Given the description of an element on the screen output the (x, y) to click on. 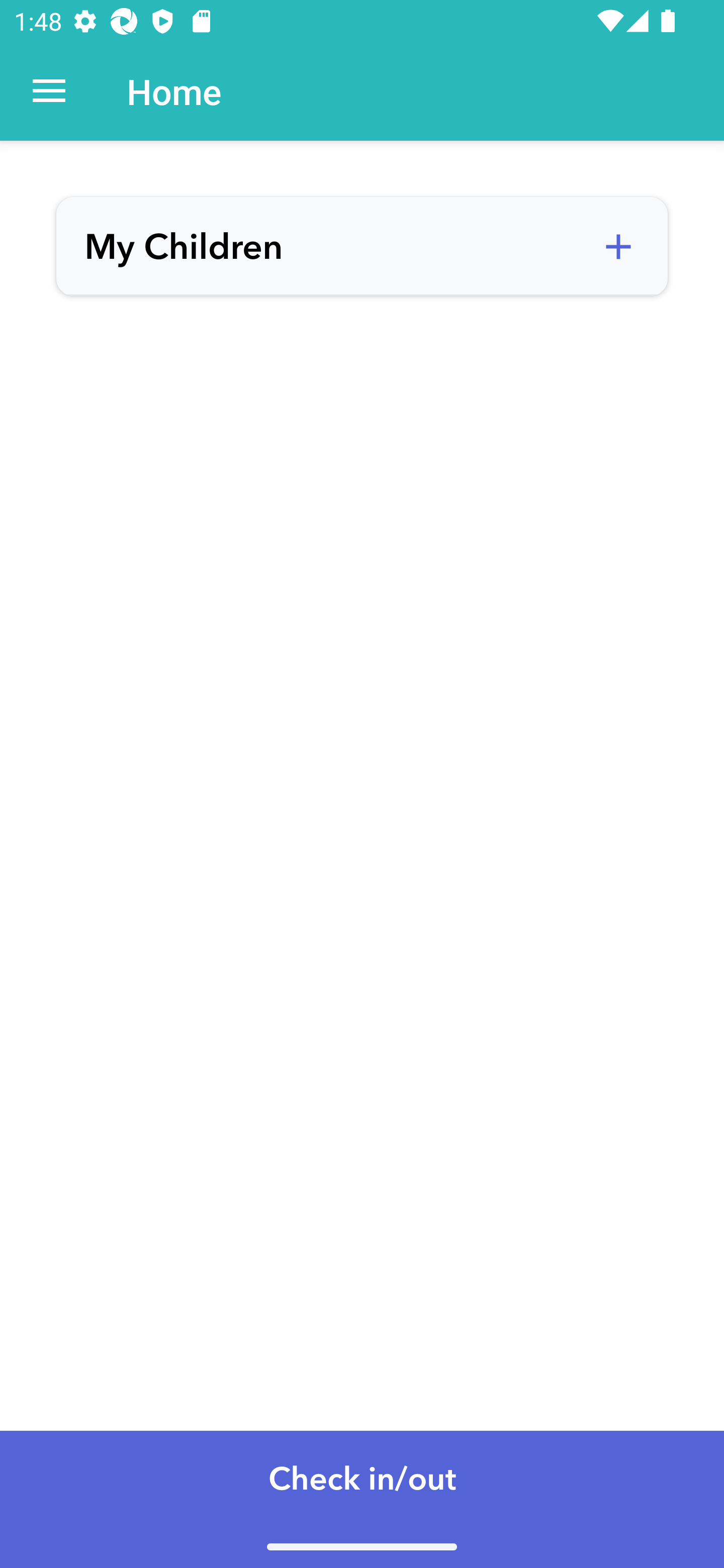
Open navigation drawer (49, 91)
Add a Child (618, 246)
Check in/out (362, 1499)
